Given the description of an element on the screen output the (x, y) to click on. 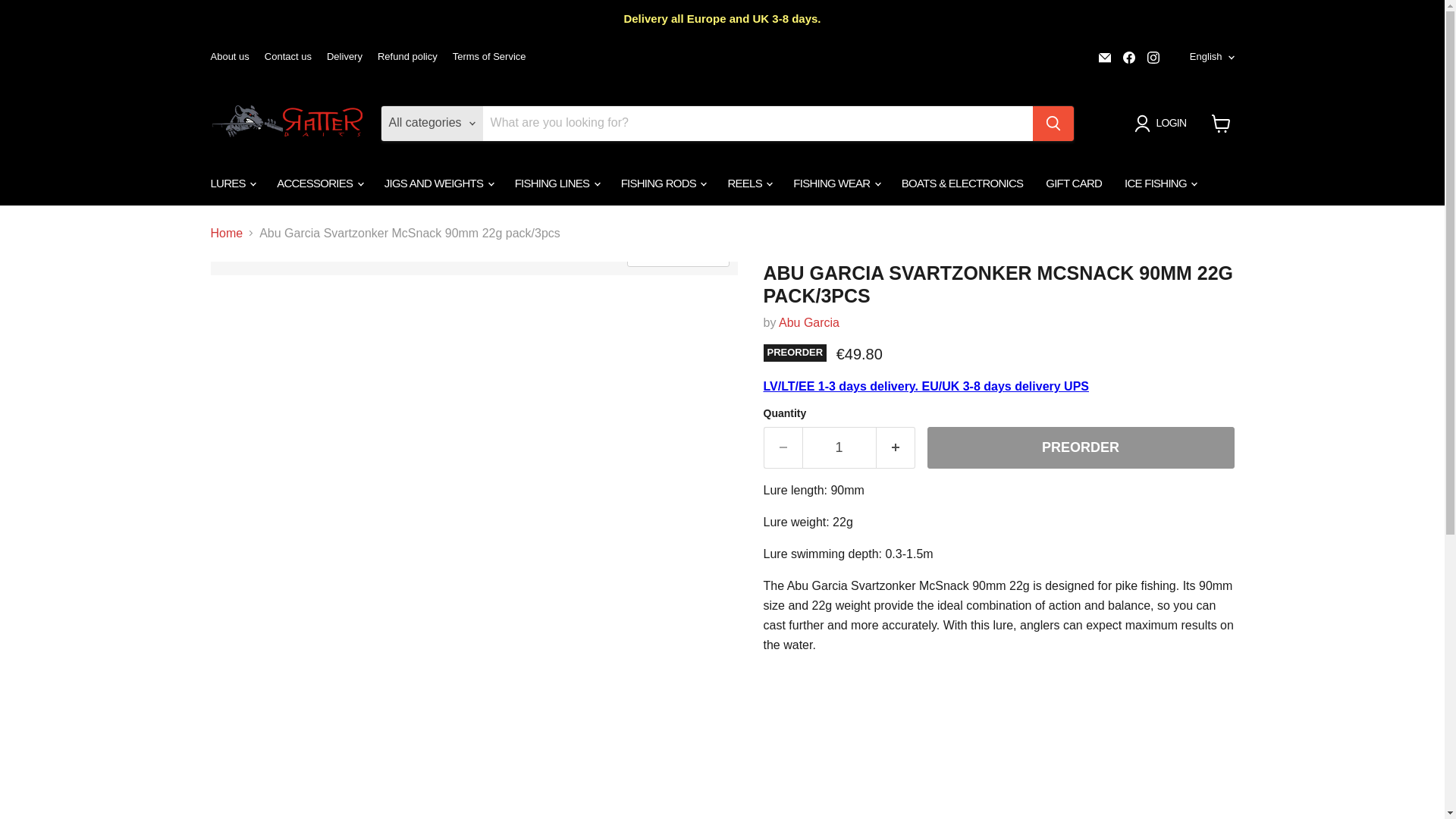
View cart (1221, 122)
Abu Garcia (809, 322)
Instagram (1152, 56)
LOGIN (1163, 123)
Terms of Service (488, 57)
English (1208, 56)
Find us on Instagram (1152, 56)
Delivery (344, 57)
Email Ratter Baits (1104, 56)
Contact us (287, 57)
